Given the description of an element on the screen output the (x, y) to click on. 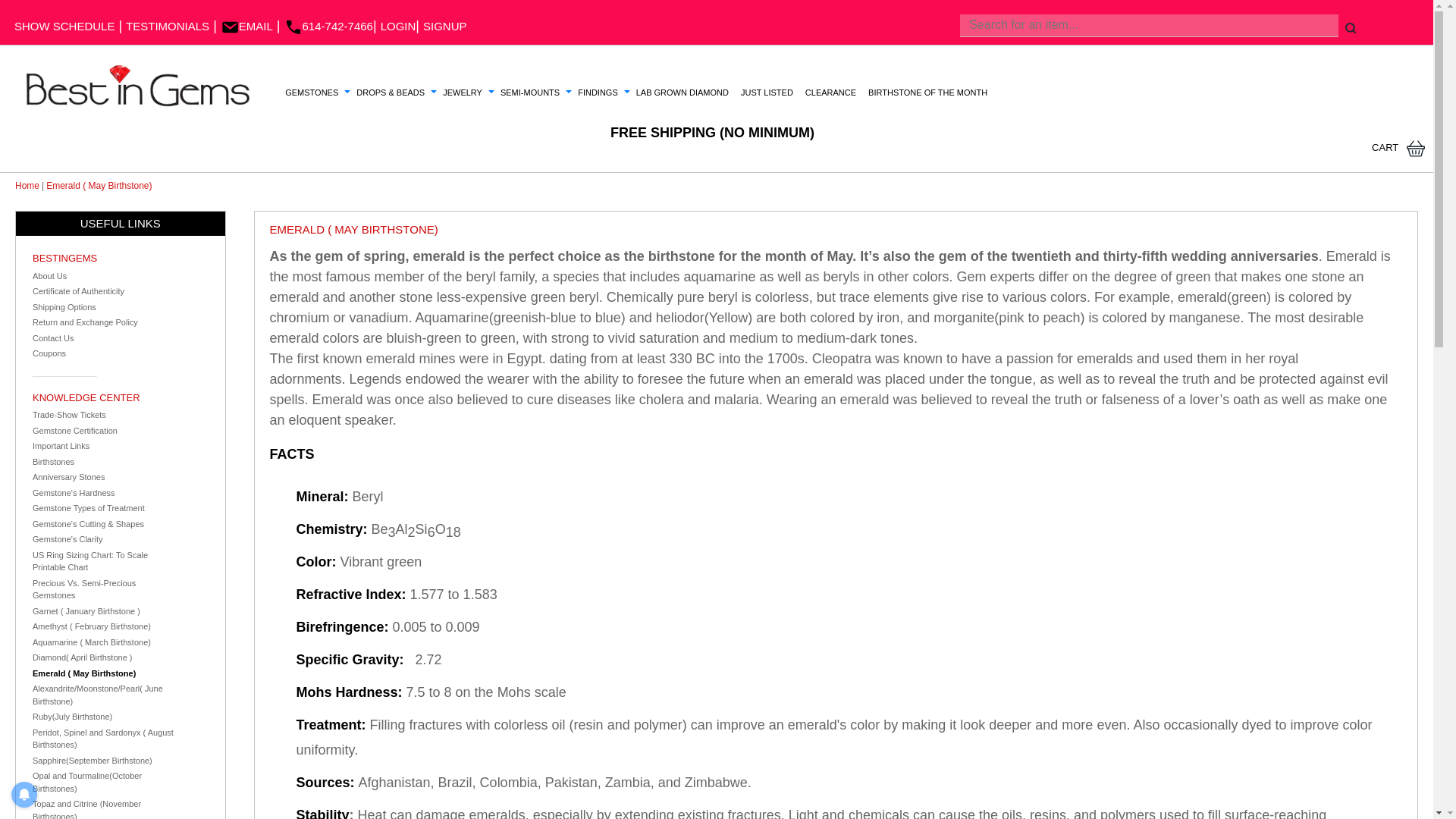
EMAIL (247, 25)
LOGIN (398, 25)
614-742-7466 (327, 25)
SHOW SCHEDULE (64, 25)
TESTIMONIALS (167, 25)
JEWELRY (461, 92)
GEMSTONES (311, 92)
SIGNUP (445, 25)
